Given the description of an element on the screen output the (x, y) to click on. 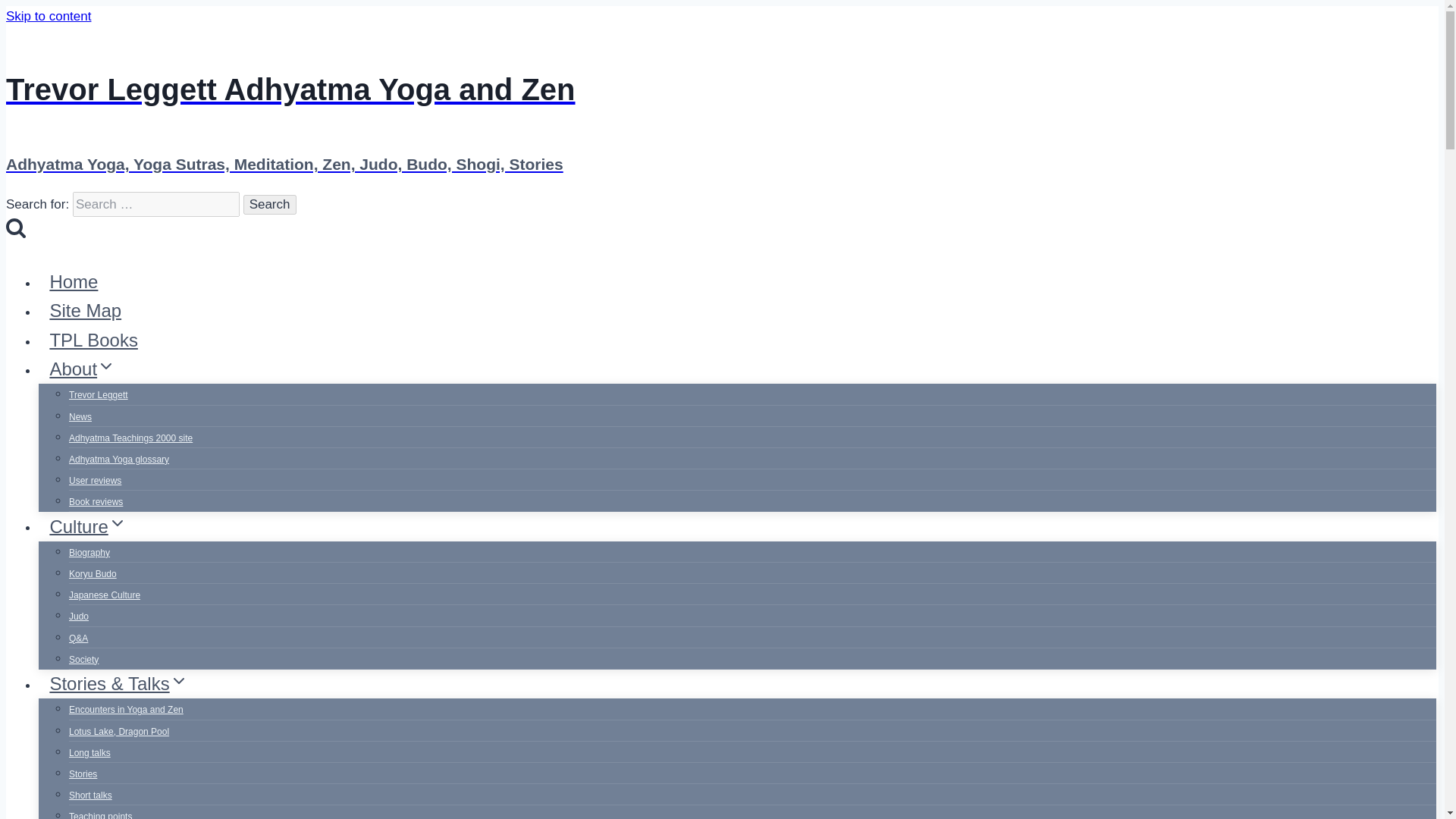
Search (15, 227)
Koryu Budo (92, 573)
Expand (106, 366)
TPL Books (93, 339)
Skip to content (47, 16)
Adhyatma Teachings 2000 site (130, 438)
Japanese Culture (103, 594)
Biography (89, 552)
User reviews (94, 480)
Encounters in Yoga and Zen (125, 709)
Judo (78, 615)
Search (270, 204)
Expand (178, 680)
Long talks (89, 752)
Expand (116, 523)
